Given the description of an element on the screen output the (x, y) to click on. 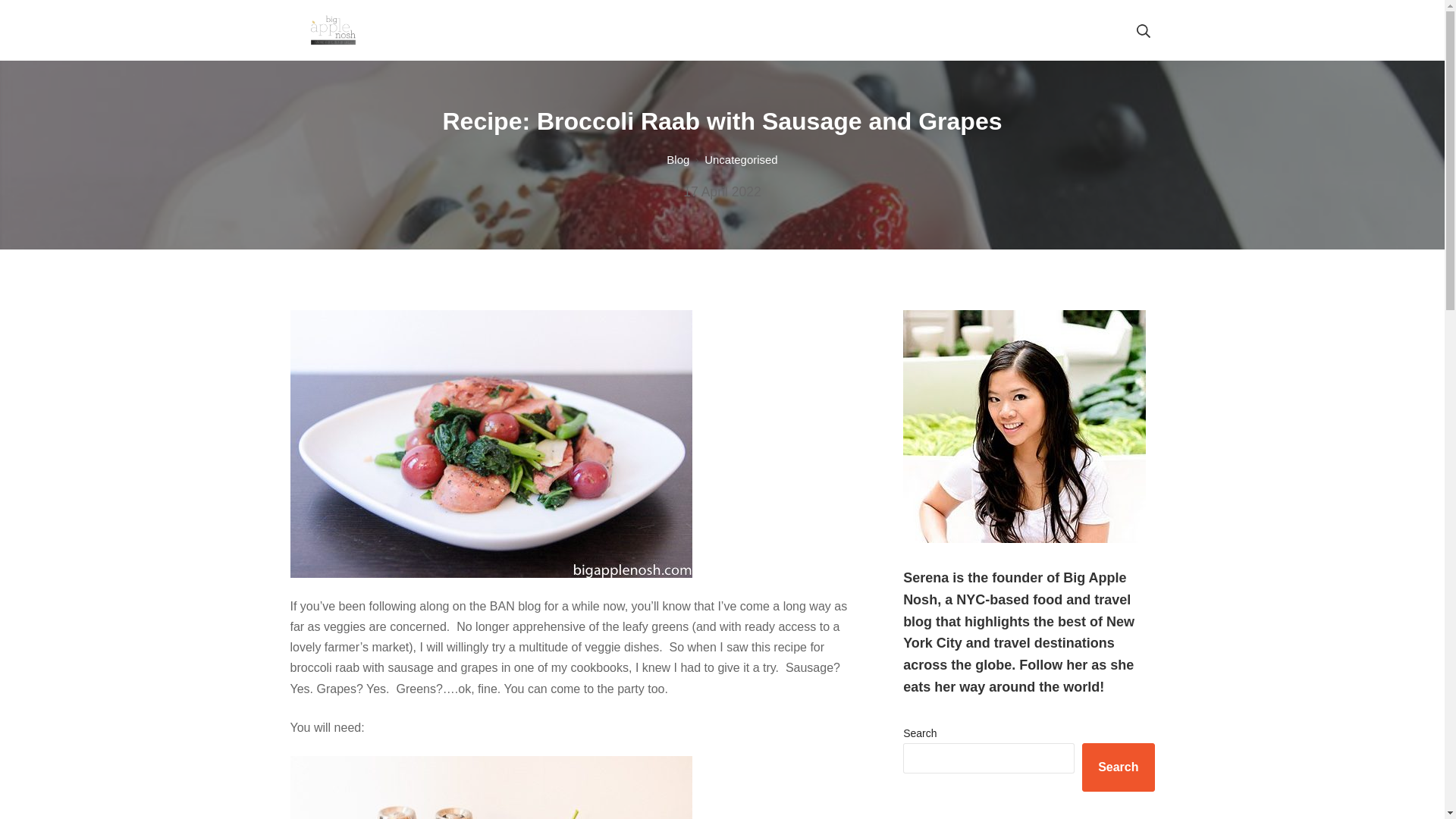
Search (721, 191)
Big Apple Nosh (35, 15)
Uncategorised (331, 30)
Search (740, 159)
Blog (1117, 766)
